Given the description of an element on the screen output the (x, y) to click on. 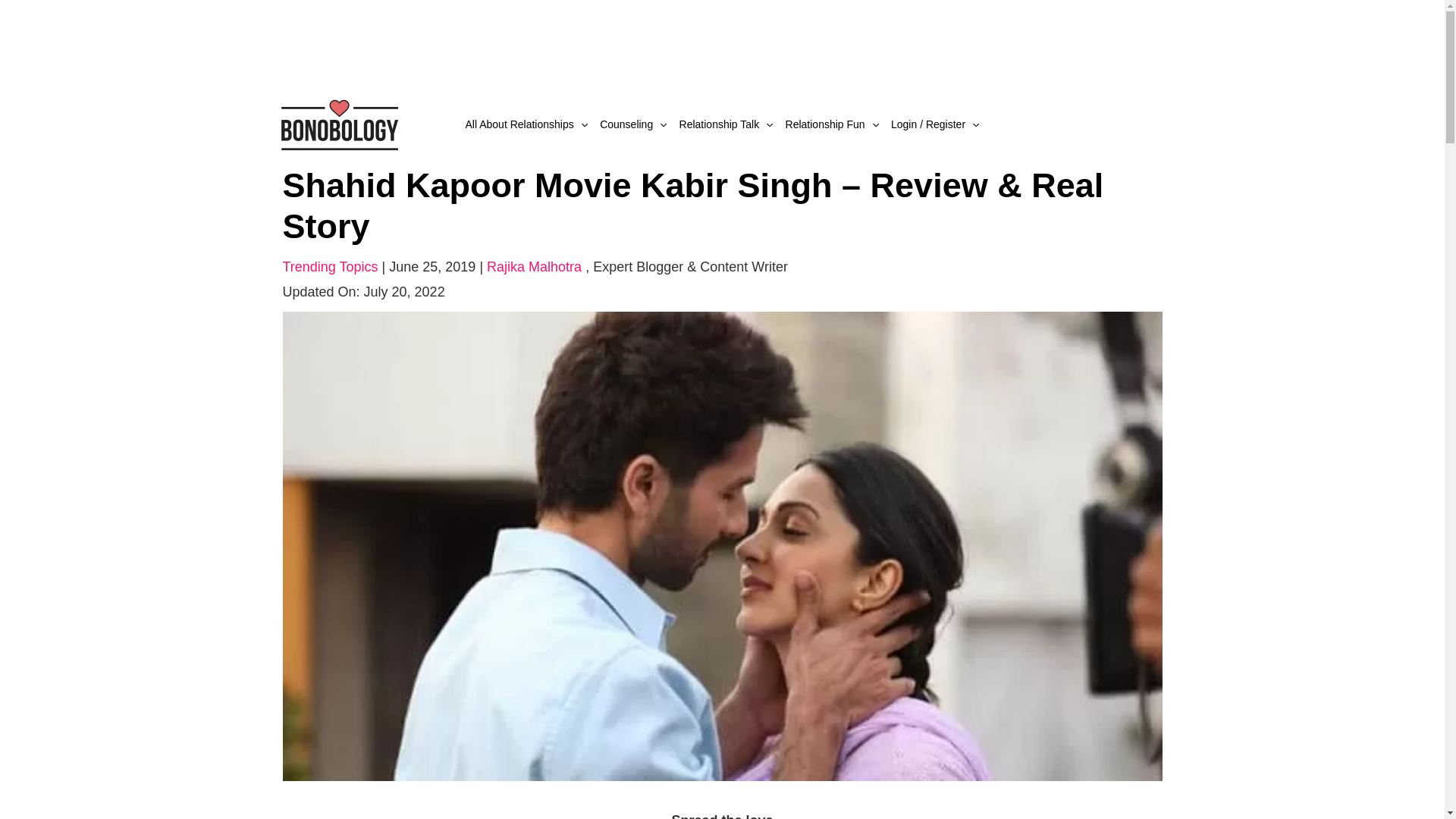
cropped-cropped-Bonobology-2.png (339, 123)
All About Relationships (527, 124)
Editor Info (689, 266)
Shahid-Kapoor-Movie-Kabir-Singh (721, 544)
